Given the description of an element on the screen output the (x, y) to click on. 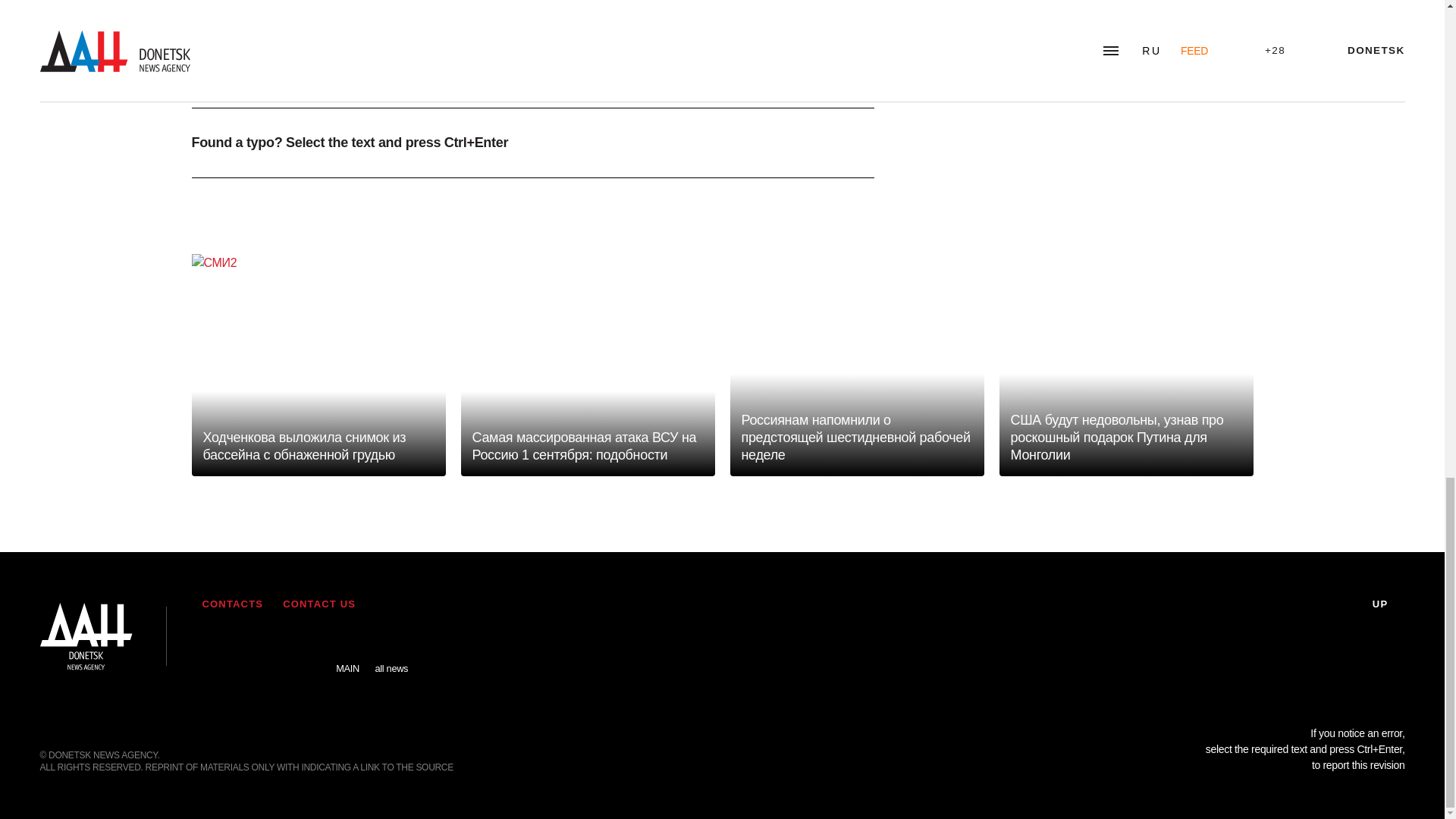
UP (1389, 604)
all news (390, 656)
RSS (217, 644)
VKontakte (262, 644)
Odnoklassniki (304, 644)
